Given the description of an element on the screen output the (x, y) to click on. 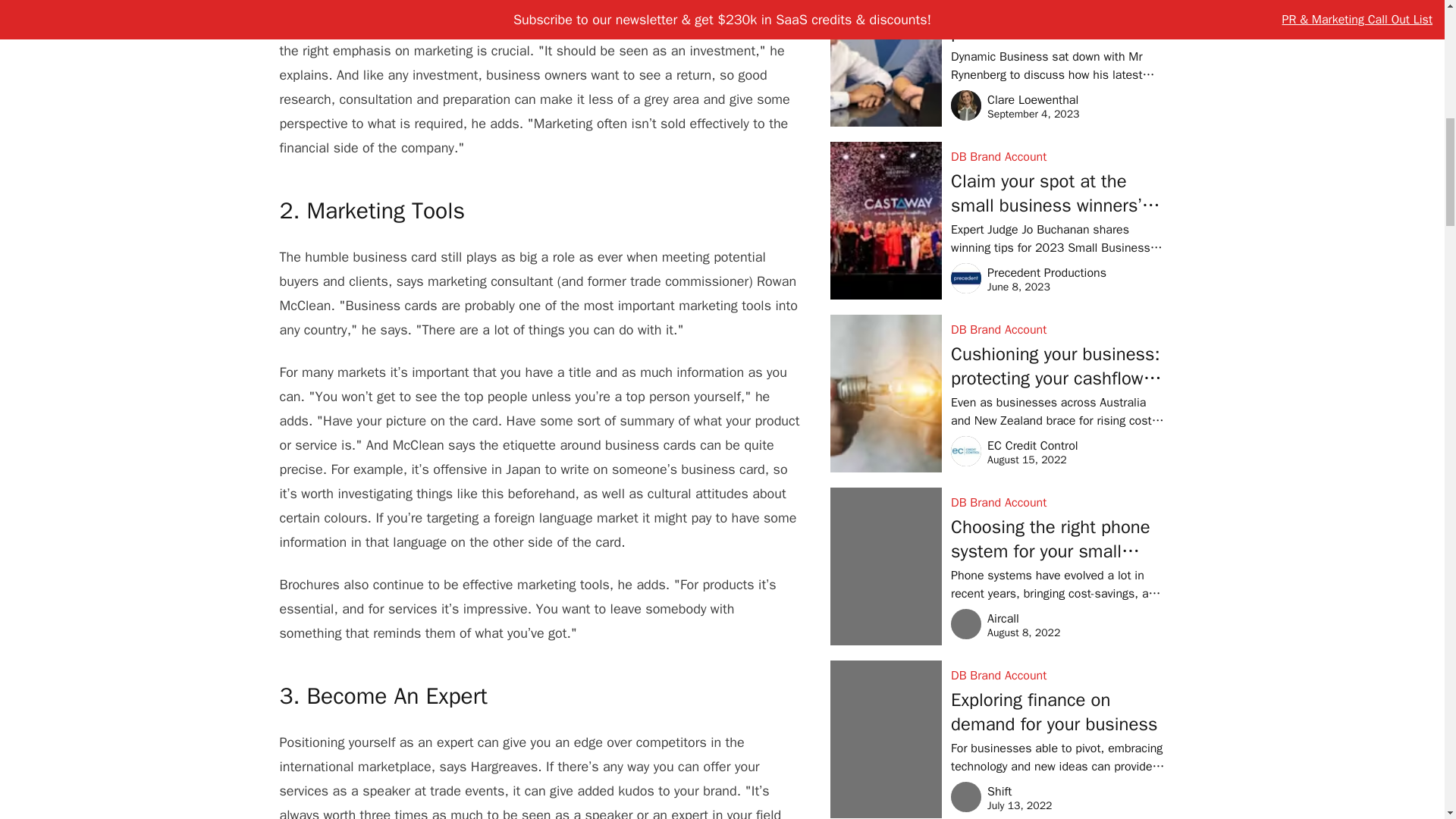
How integrating business processes creates time for growth (1057, 23)
